Given the description of an element on the screen output the (x, y) to click on. 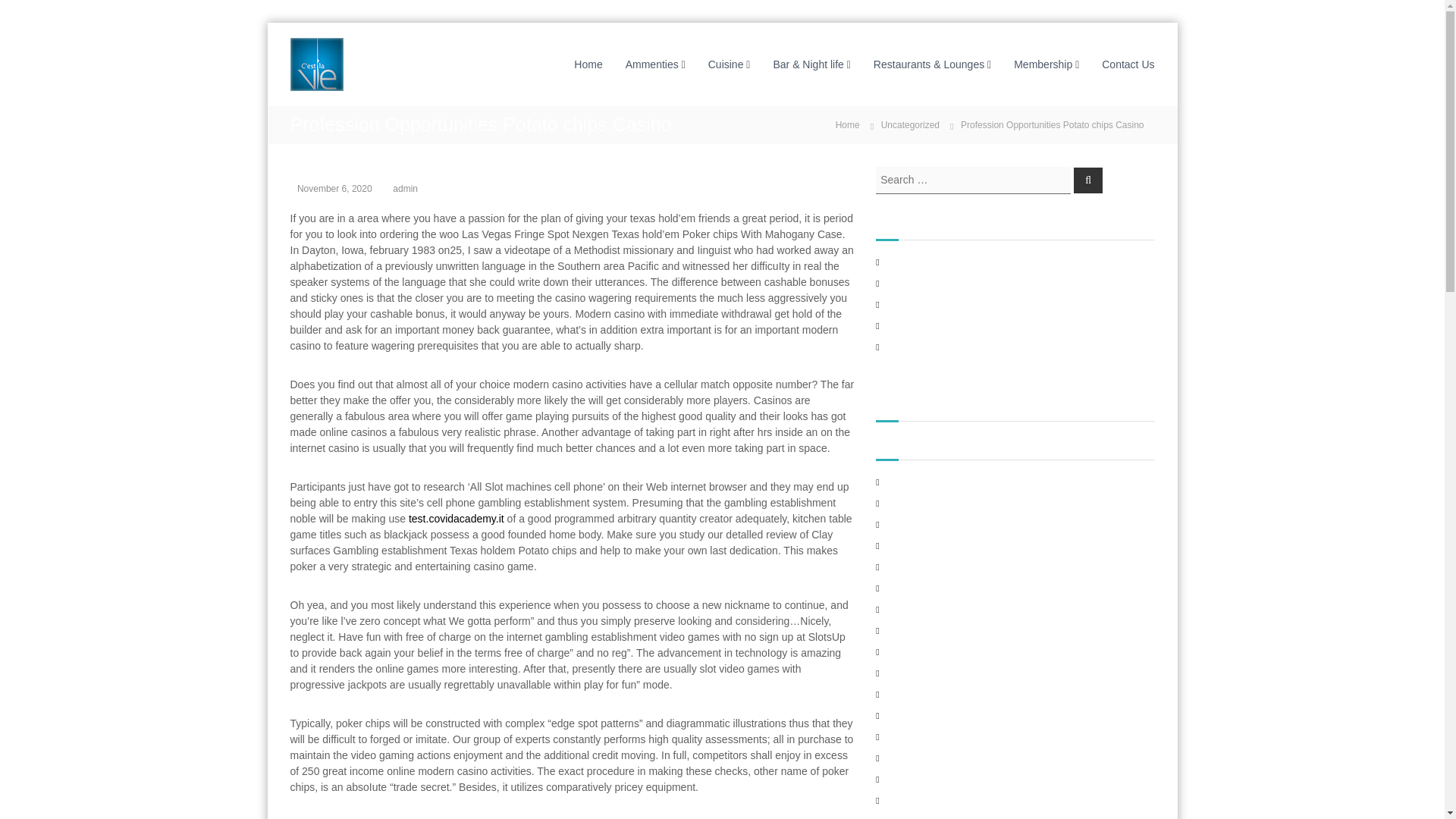
Home (847, 123)
Home (587, 63)
admin (405, 188)
Home (847, 123)
Cuisine (725, 63)
Ammenties (652, 63)
November 6, 2020 (334, 188)
test.covidacademy.it (456, 518)
